Given the description of an element on the screen output the (x, y) to click on. 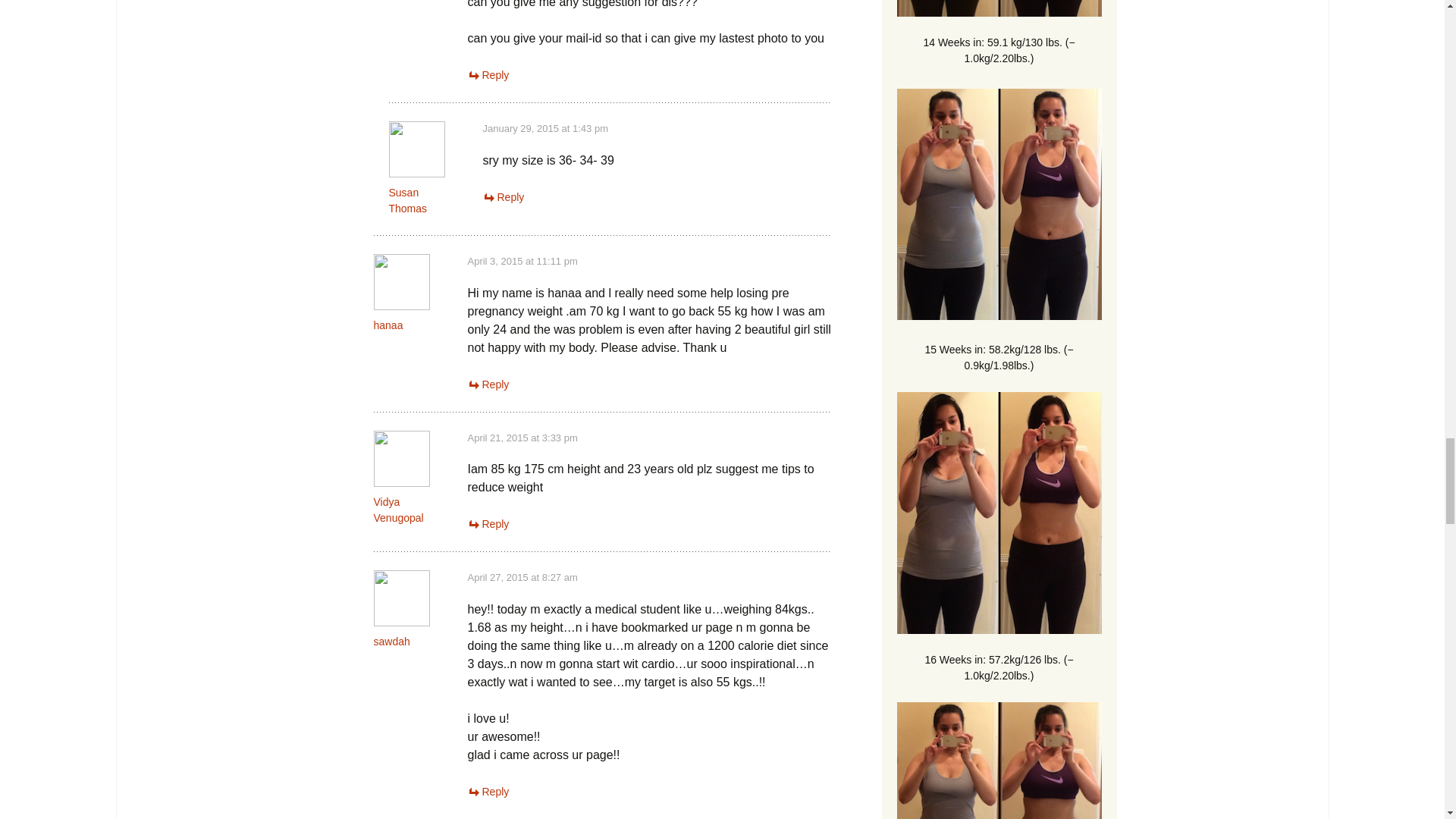
April 21, 2015 at 3:33 pm (521, 437)
April 27, 2015 at 8:27 am (521, 577)
Reply (487, 384)
Reply (487, 74)
Reply (487, 523)
January 29, 2015 at 1:43 pm (544, 128)
Vidya Venugopal (397, 510)
April 3, 2015 at 11:11 pm (521, 260)
Reply (502, 196)
Reply (487, 791)
